Given the description of an element on the screen output the (x, y) to click on. 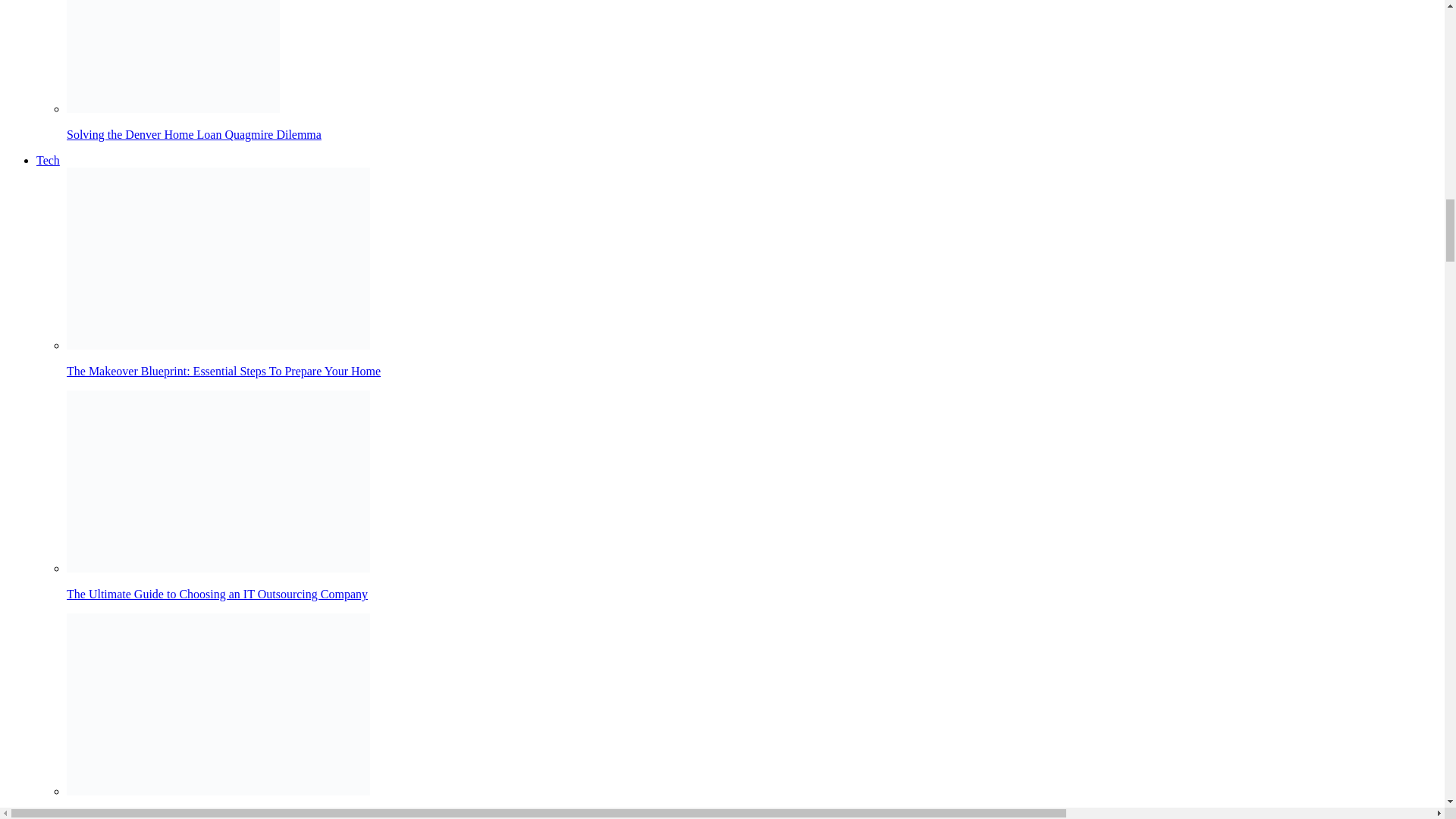
Tech (47, 160)
The Ultimate Guide to Choosing an IT Outsourcing Company 12 (217, 481)
Solving the Denver Home Loan Quagmire Dilemma 10 (172, 56)
